Given the description of an element on the screen output the (x, y) to click on. 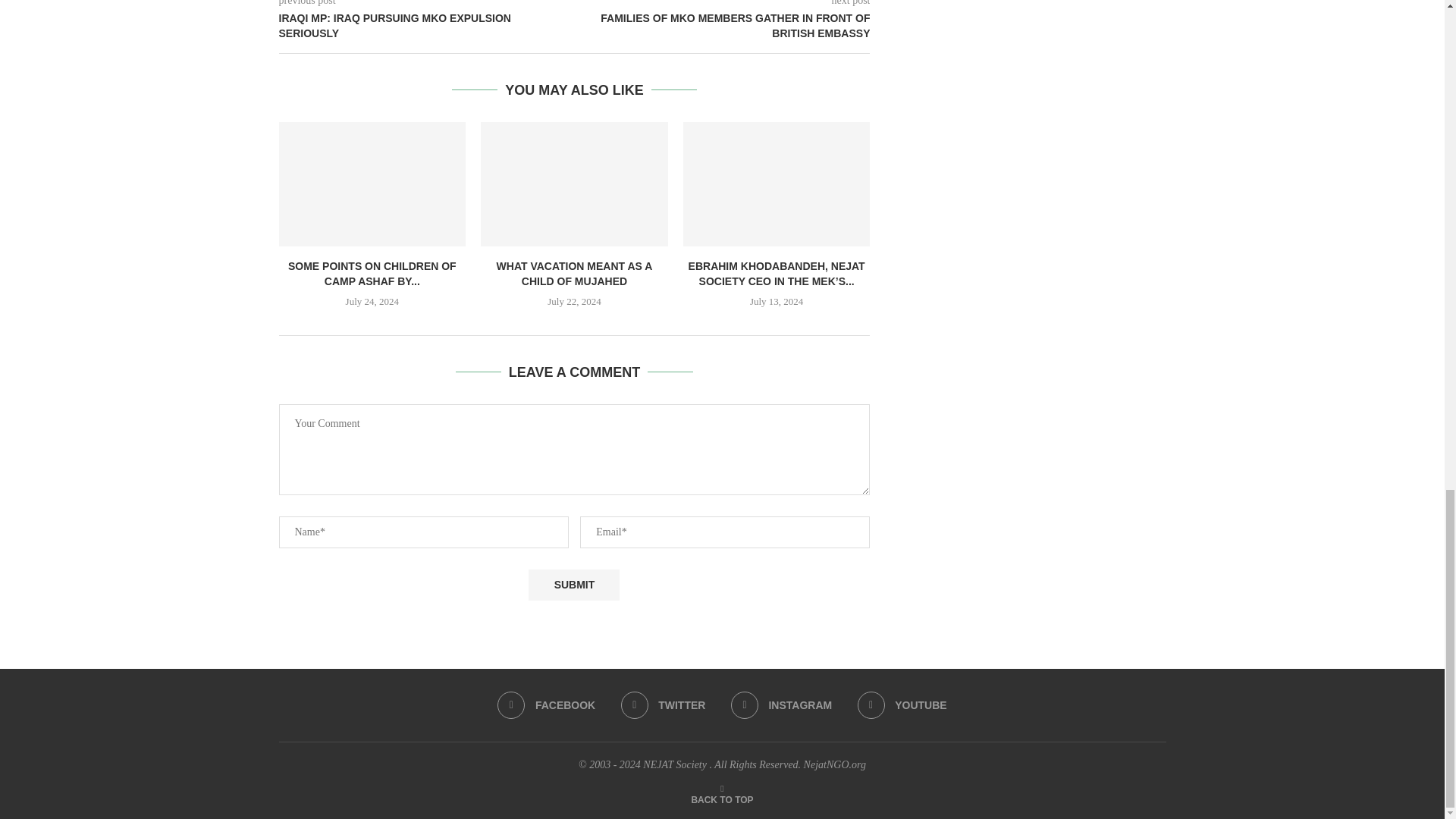
Some points on Children of Camp Ashaf by Amir Yaghmai (372, 184)
What vacation meant as a child of Mujahed (574, 184)
Submit (574, 584)
